Given the description of an element on the screen output the (x, y) to click on. 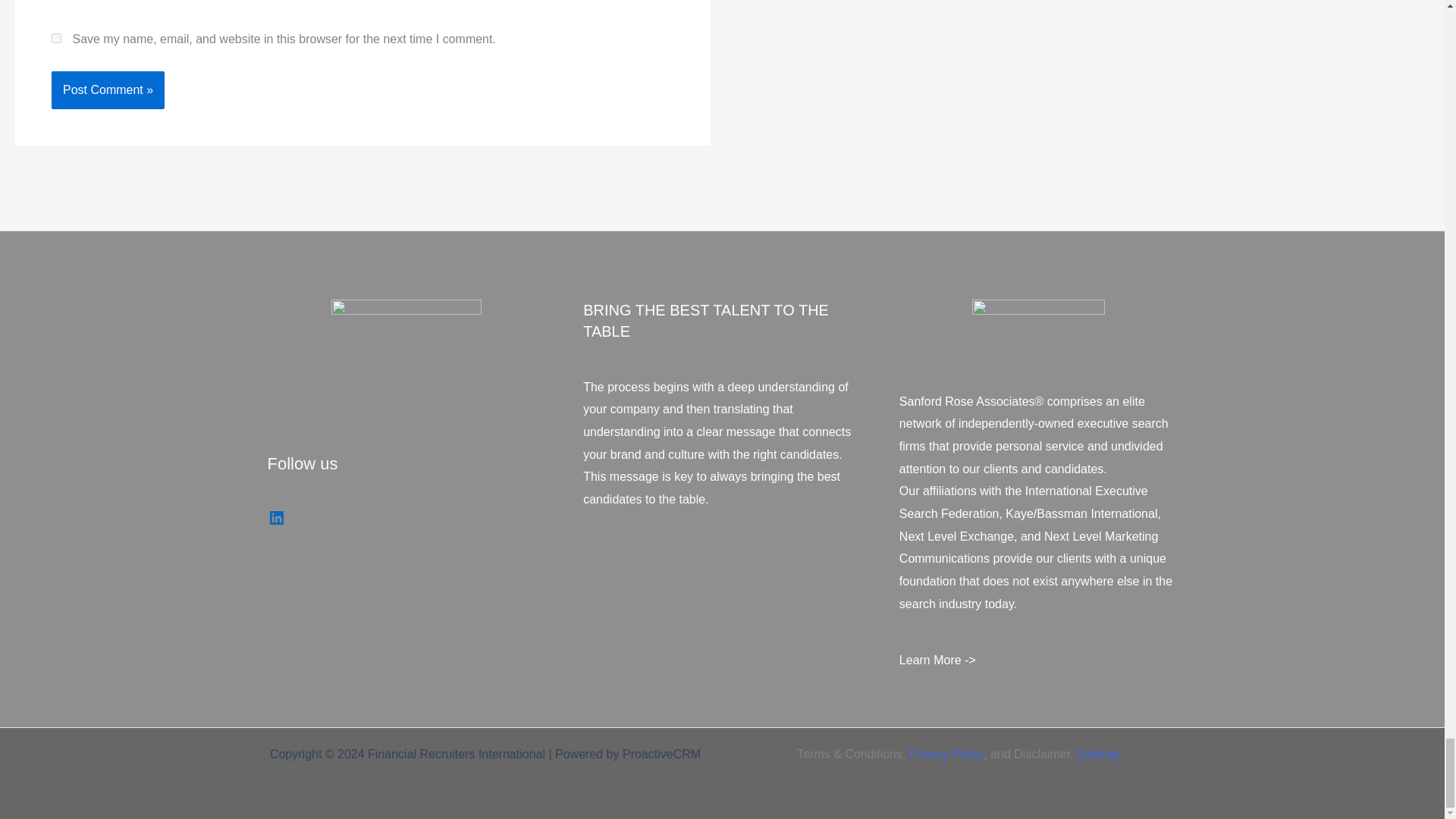
yes (55, 37)
